Given the description of an element on the screen output the (x, y) to click on. 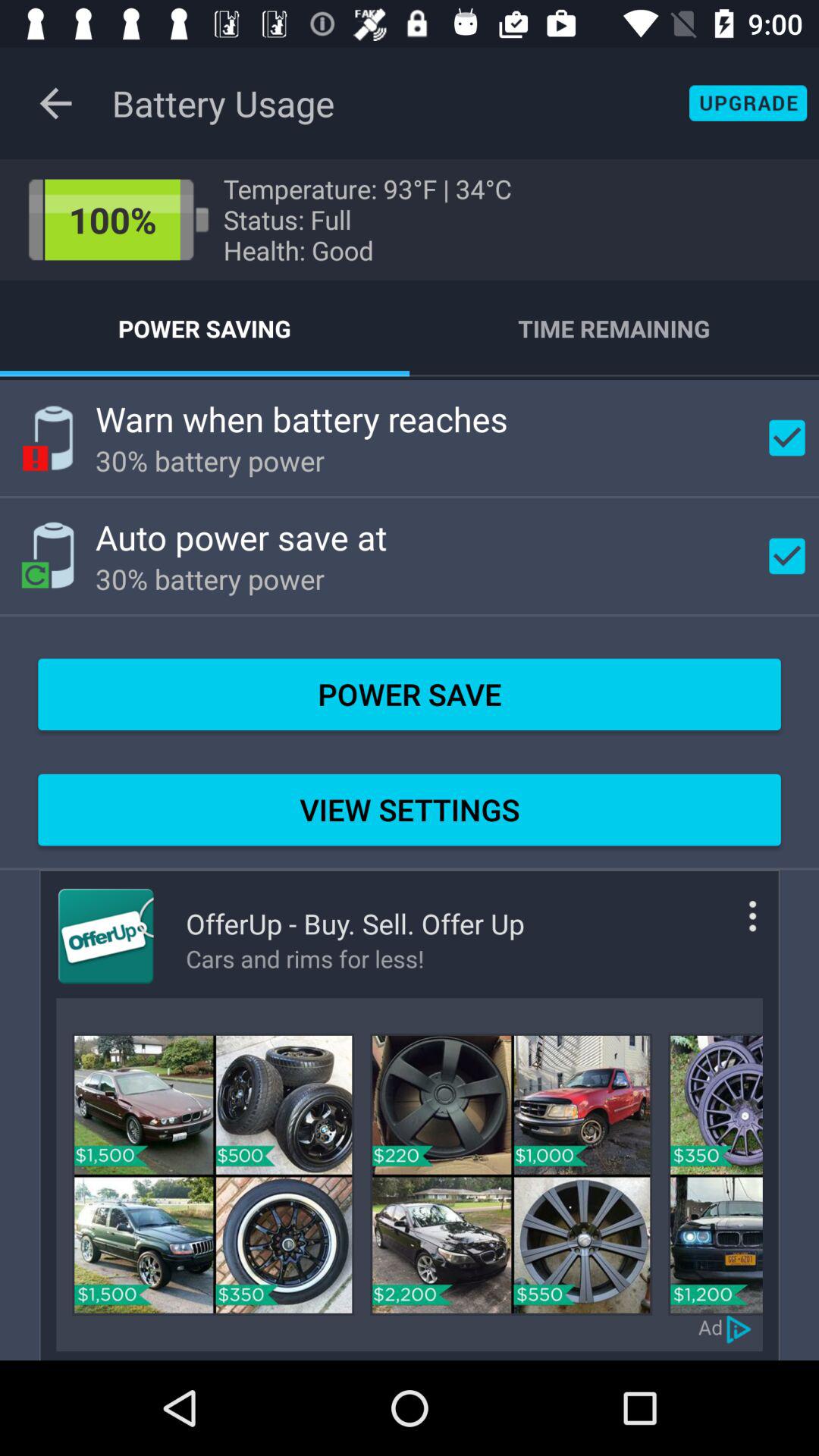
choose warn when battery item (301, 418)
